Given the description of an element on the screen output the (x, y) to click on. 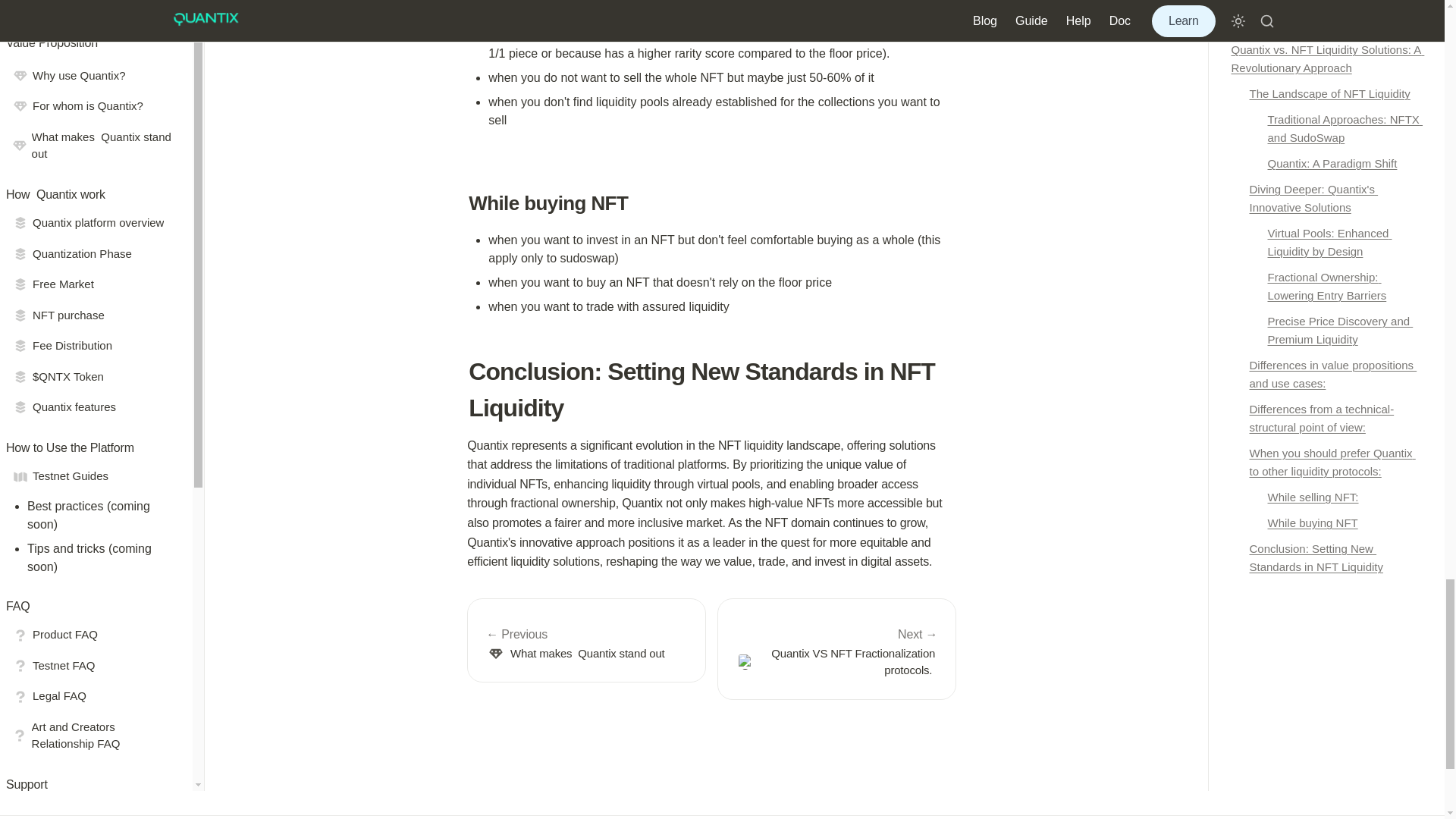
What makes  Quantix stand out (586, 640)
Quantix VS NFT Fractionalization protocols.  (836, 649)
